Given the description of an element on the screen output the (x, y) to click on. 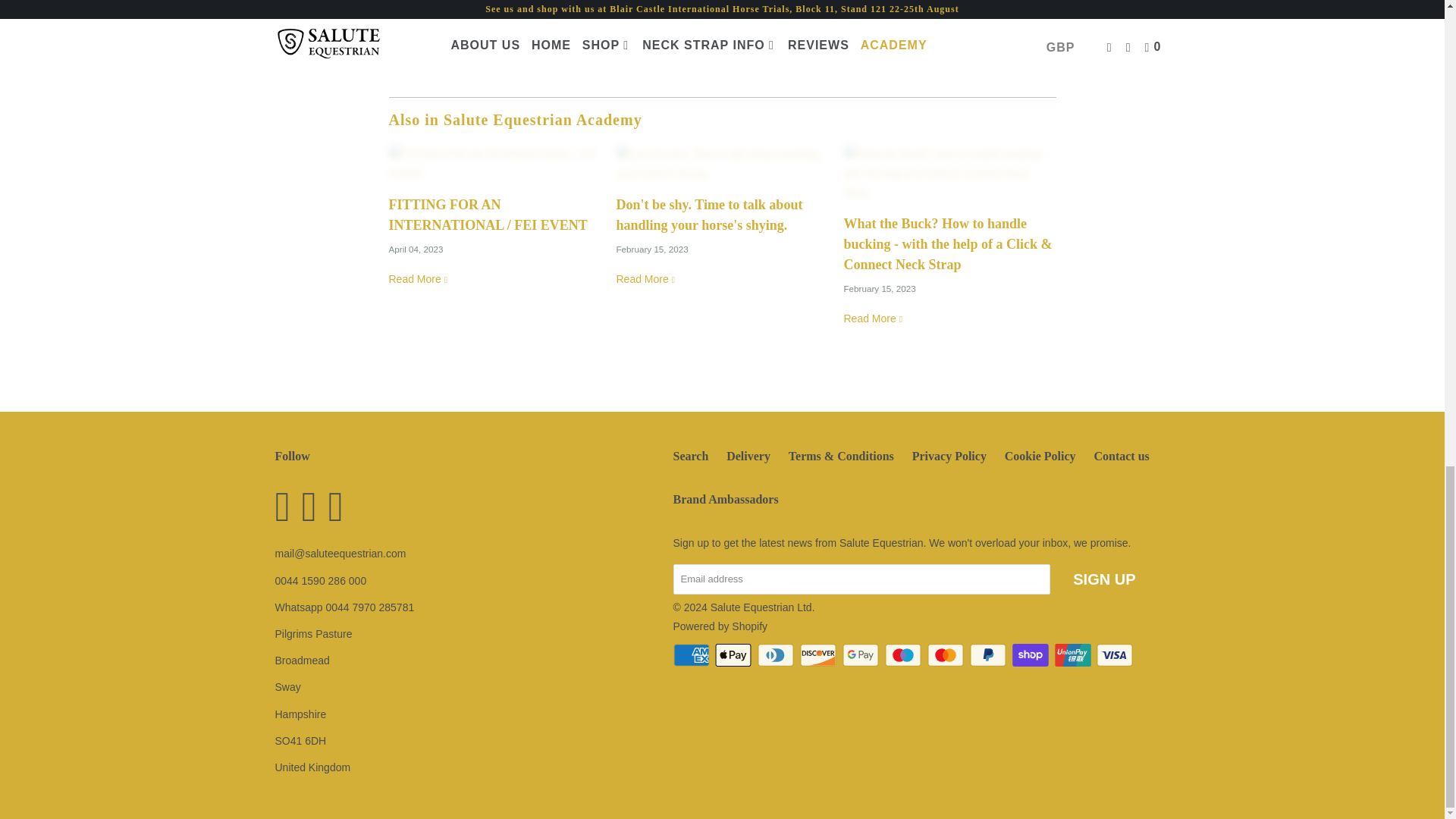
Union Pay (1074, 654)
Discover (819, 654)
American Express (692, 654)
PayPal (989, 654)
Apple Pay (734, 654)
Shop Pay (1031, 654)
Maestro (904, 654)
Sign Up (1104, 579)
